Given the description of an element on the screen output the (x, y) to click on. 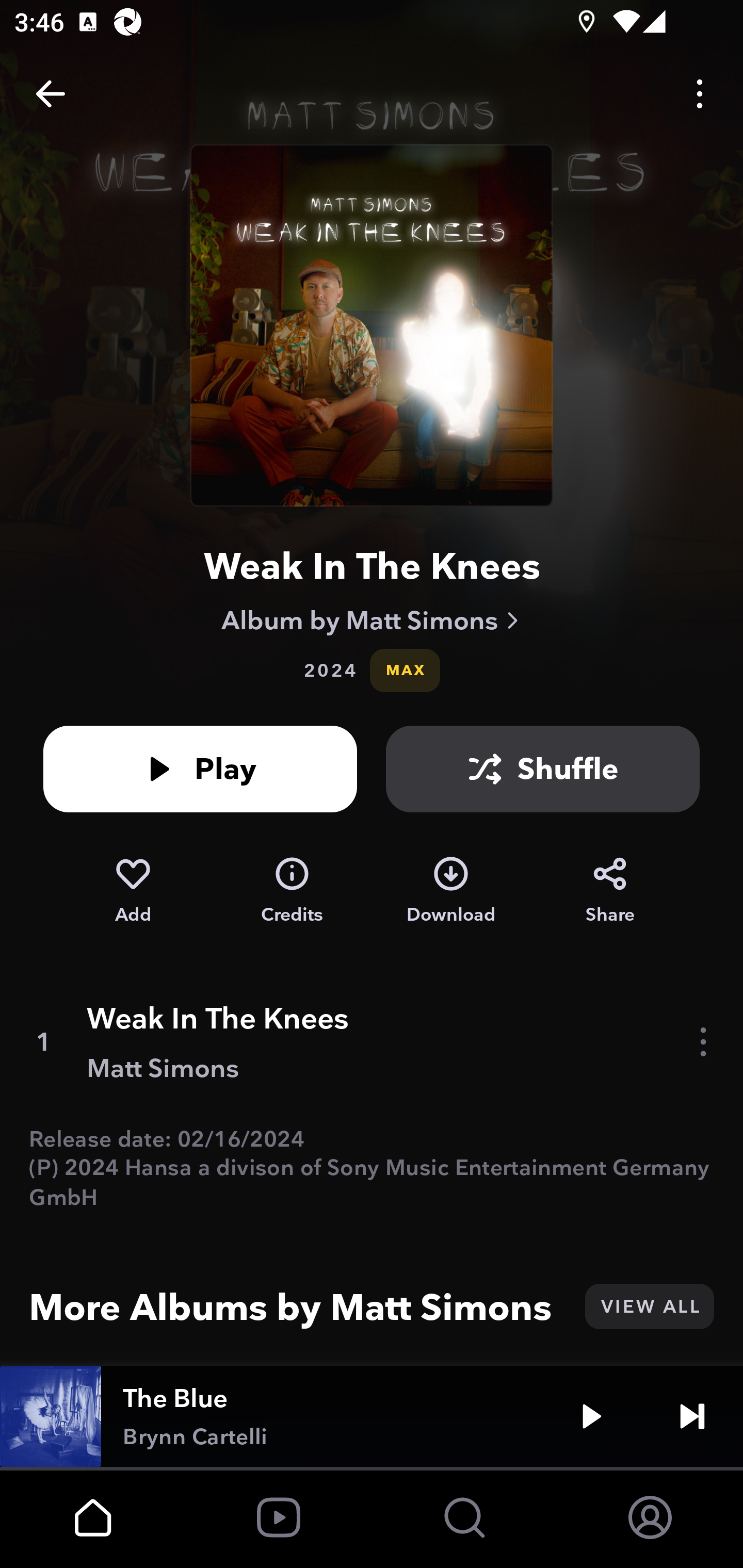
Options (699, 93)
Weak In The Knees (371, 565)
Album by Matt Simons (371, 619)
Play (200, 768)
Shuffle (542, 768)
Add to My Collection Add (132, 890)
Credits (291, 890)
Download (450, 890)
Share (609, 890)
1 Weak In The Knees Matt Simons (371, 1041)
VIEW ALL (649, 1306)
The Blue Brynn Cartelli Play (371, 1416)
Play (590, 1416)
